Given the description of an element on the screen output the (x, y) to click on. 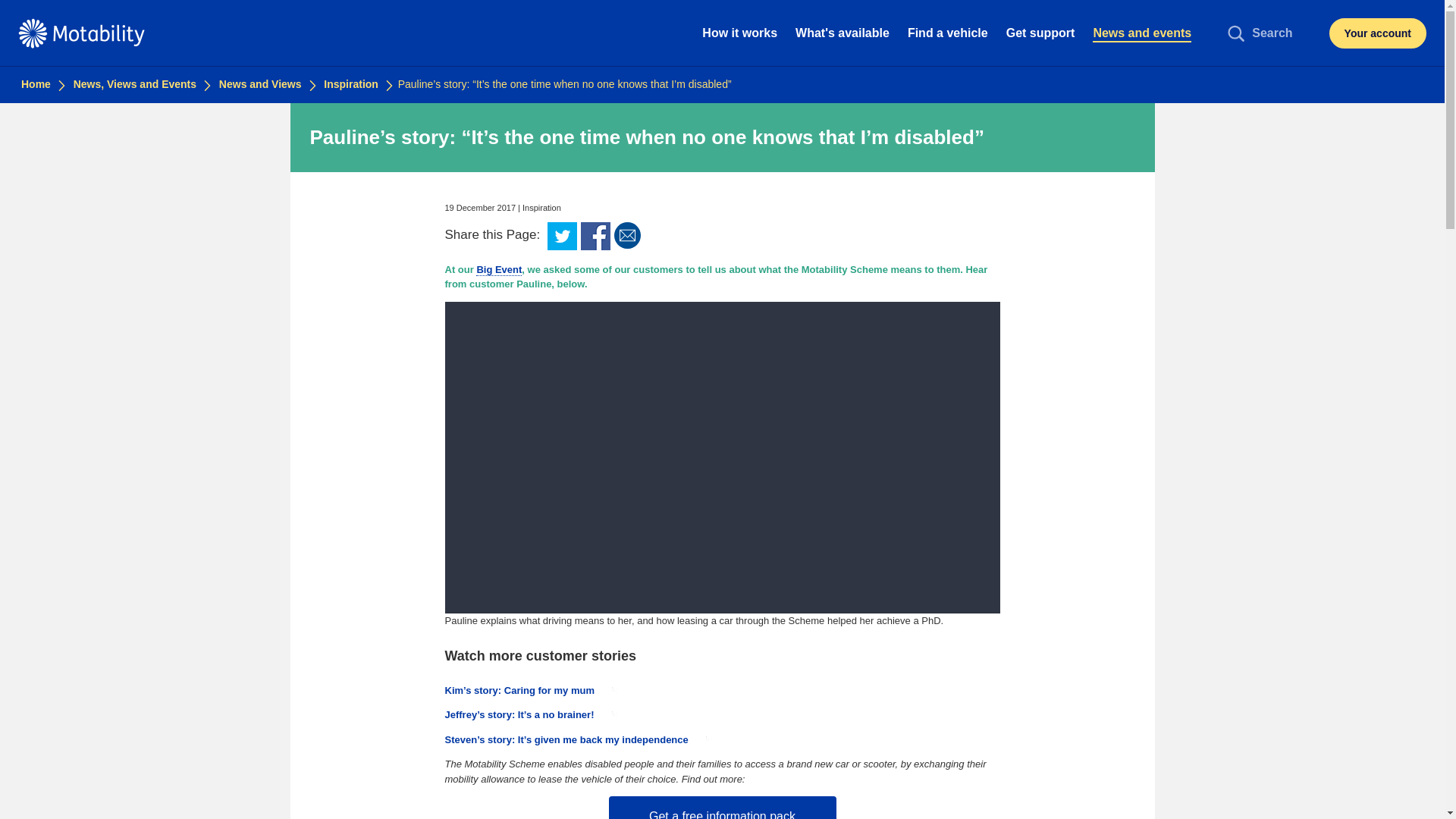
News, Views and Events (134, 83)
News and events (1141, 33)
Big Event (498, 269)
News and Views (259, 83)
Opens in a new window (595, 235)
How it works (739, 33)
Get a free information pack (721, 807)
Search (1262, 33)
What's available (842, 33)
Get support (1040, 33)
